Given the description of an element on the screen output the (x, y) to click on. 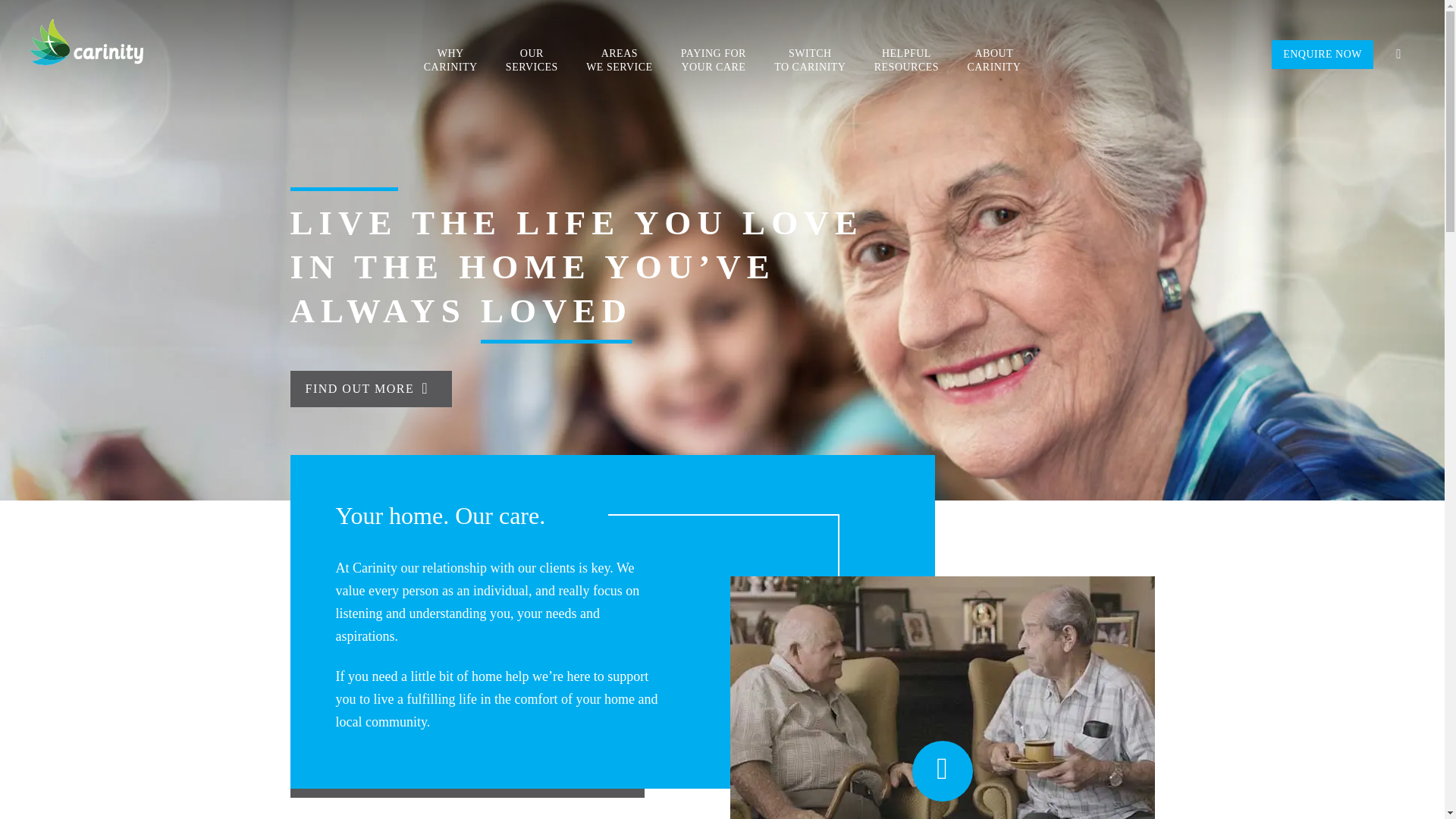
ABOUT
CARINITY Element type: text (993, 60)
ENQUIRE NOW Element type: text (1322, 54)
AREAS
WE SERVICE Element type: text (619, 60)
HELPFUL
RESOURCES Element type: text (906, 60)
PAYING FOR
YOUR CARE Element type: text (713, 60)
FIND OUT MORE Element type: text (370, 388)
SWITCH
TO CARINITY Element type: text (809, 60)
WHY
CARINITY Element type: text (450, 60)
OUR
SERVICES Element type: text (531, 60)
